Given the description of an element on the screen output the (x, y) to click on. 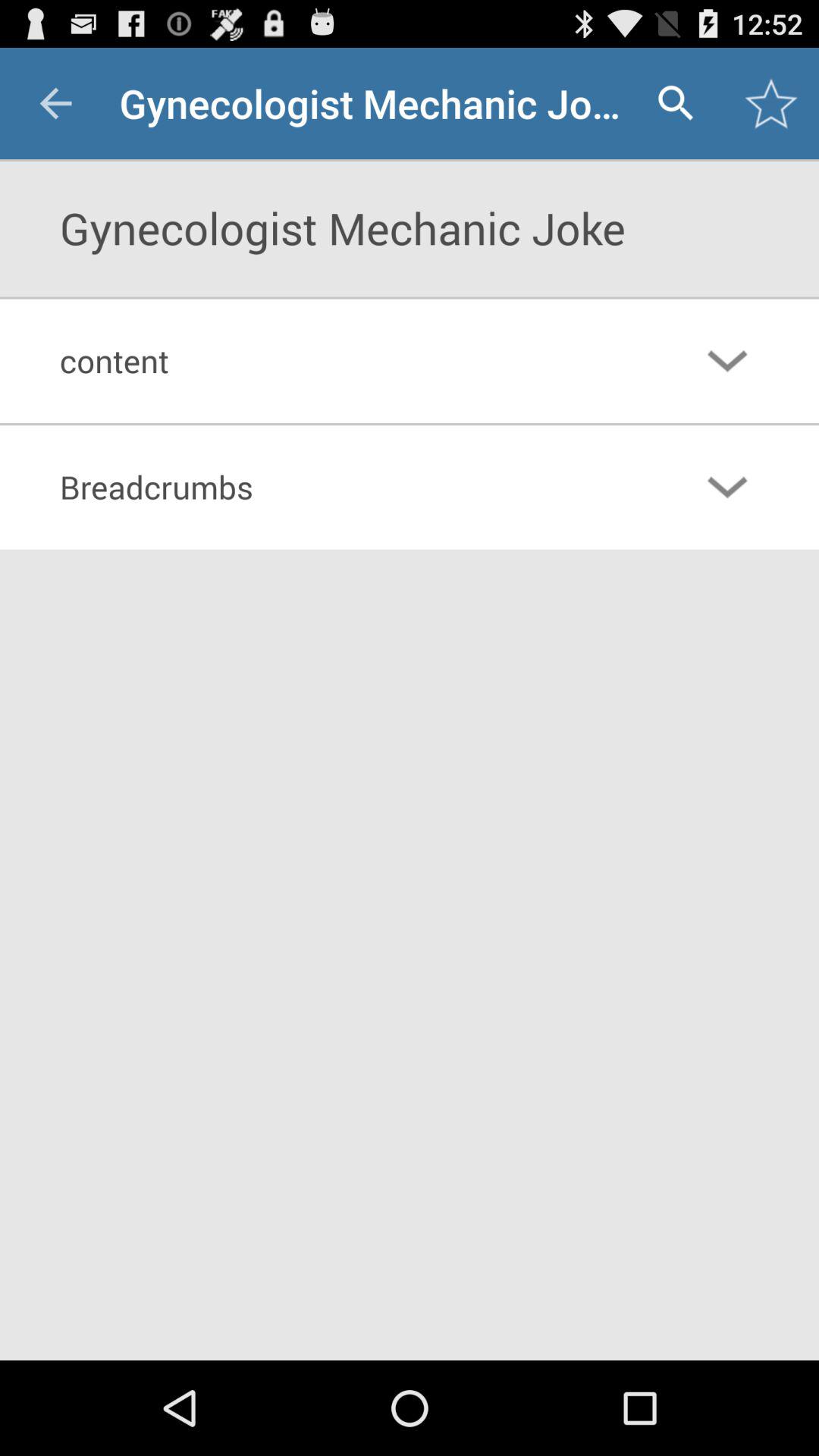
launch item next to the gynecologist mechanic joke item (675, 103)
